Given the description of an element on the screen output the (x, y) to click on. 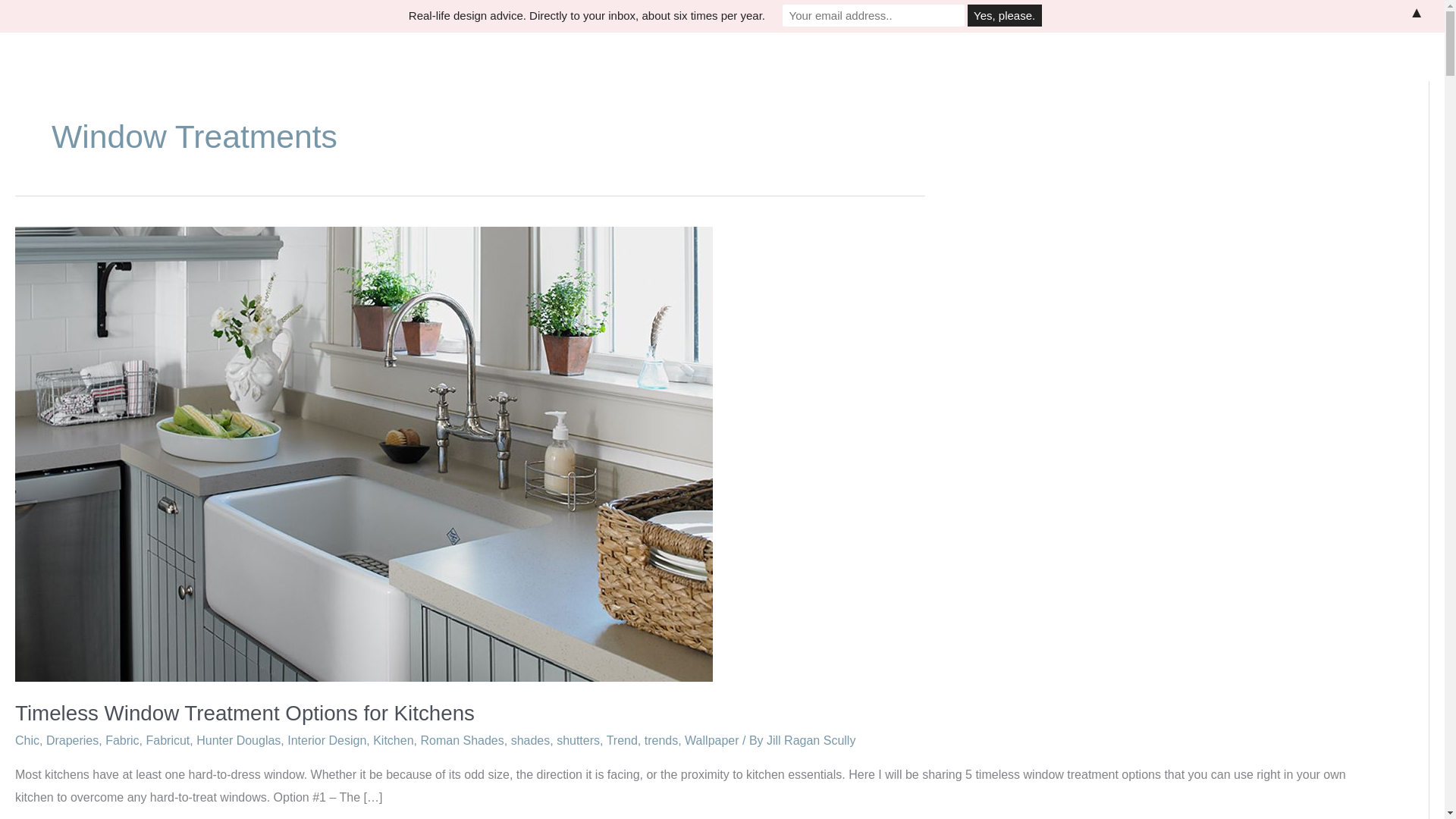
Hunter Douglas (238, 739)
View all posts by Jill Ragan Scully (811, 739)
Jill Ragan Scully (811, 739)
Yes, please. (1005, 15)
Fabric (121, 739)
Interior Design (326, 739)
Chic (26, 739)
Wallpaper (711, 739)
Draperies (72, 739)
shutters (577, 739)
